Given the description of an element on the screen output the (x, y) to click on. 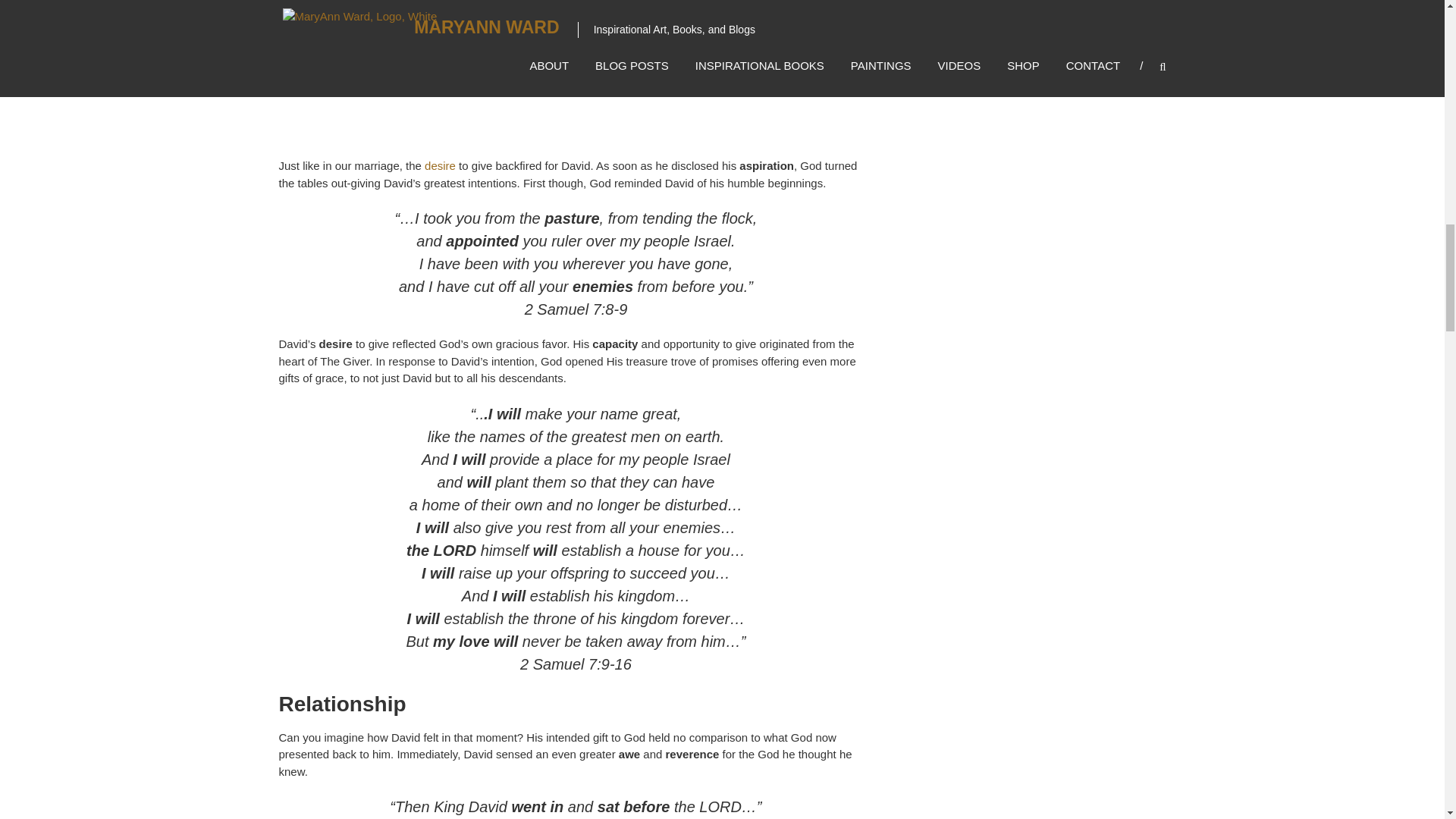
desire (438, 164)
